Given the description of an element on the screen output the (x, y) to click on. 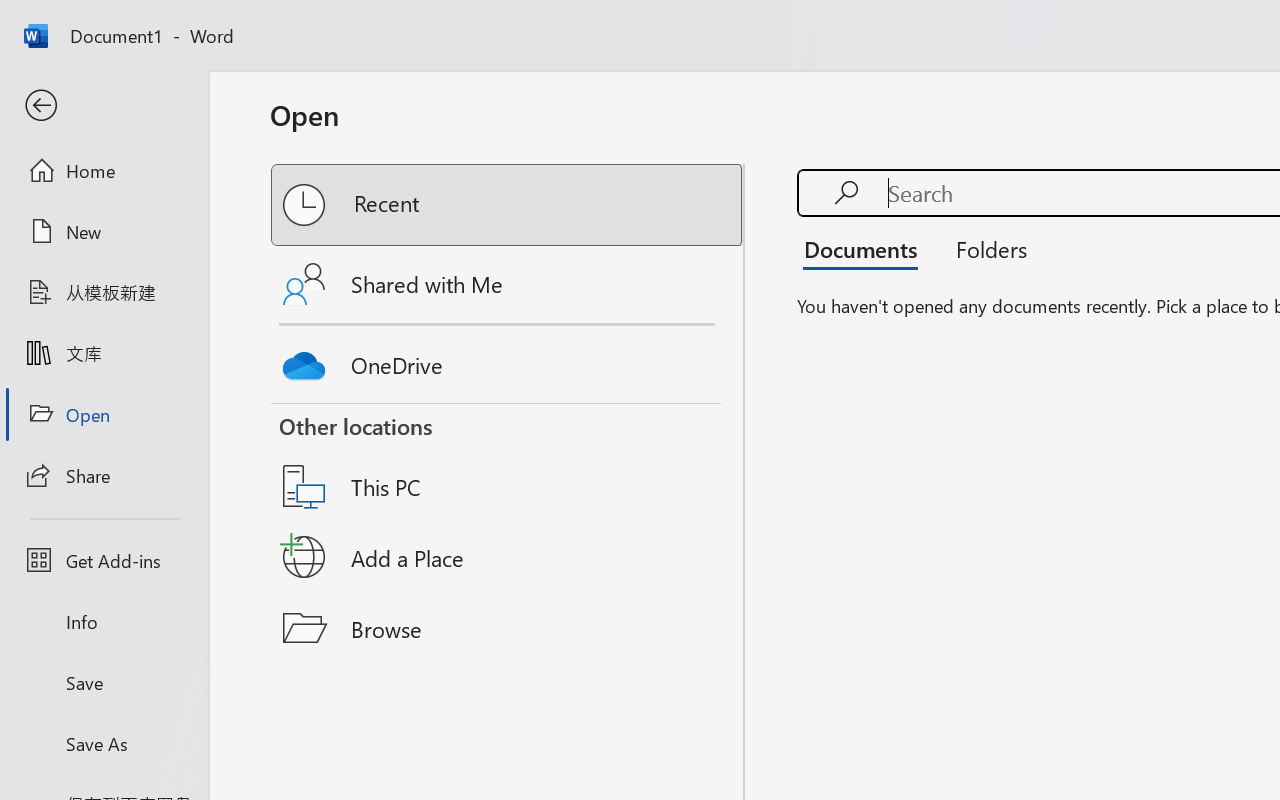
Folders (984, 248)
Info (104, 621)
Browse (507, 627)
Get Add-ins (104, 560)
Back (104, 106)
New (104, 231)
This PC (507, 461)
Documents (866, 248)
OneDrive (507, 359)
Save As (104, 743)
Recent (507, 205)
